Given the description of an element on the screen output the (x, y) to click on. 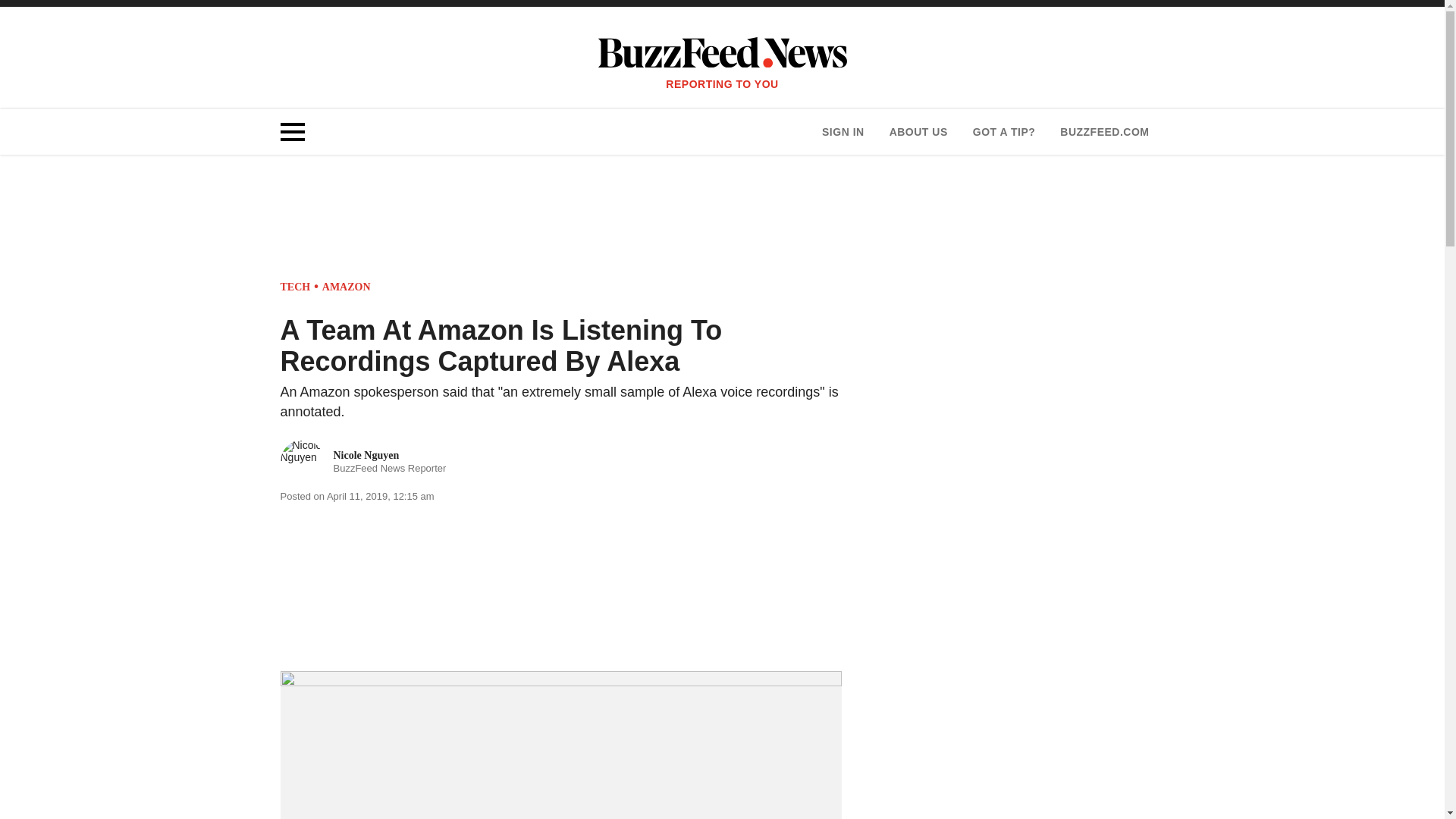
BUZZFEED.COM (363, 461)
AMAZON (1103, 131)
GOT A TIP? (346, 286)
SIGN IN (1003, 131)
ABOUT US (842, 131)
TECH (917, 131)
